Given the description of an element on the screen output the (x, y) to click on. 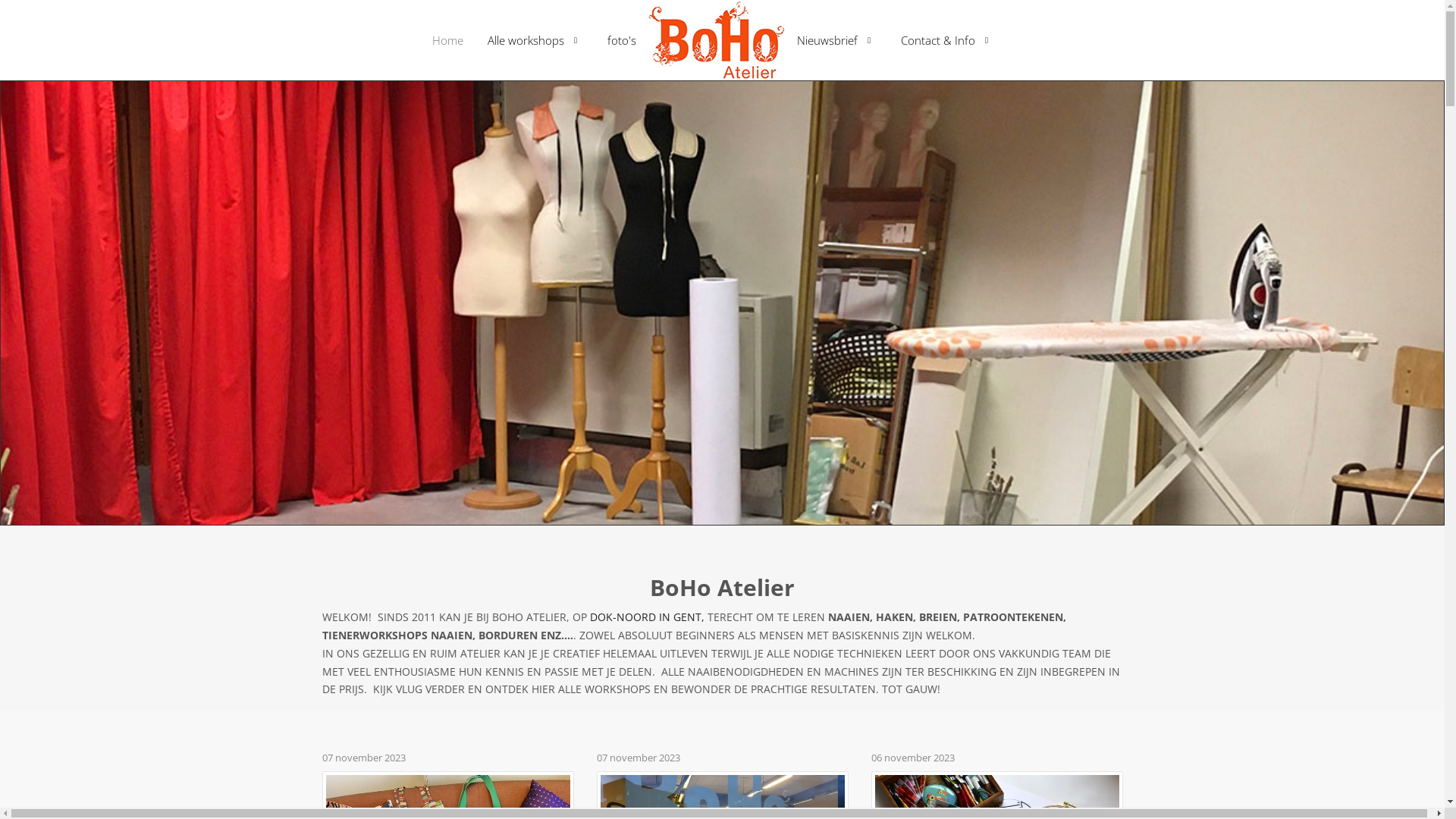
Nieuwsbrief Element type: text (836, 40)
Home Element type: text (447, 40)
Alle workshops Element type: text (535, 40)
DOK-NOORD IN GENT, Element type: text (646, 616)
foto's Element type: text (621, 40)
Contact & Info Element type: text (947, 40)
